Given the description of an element on the screen output the (x, y) to click on. 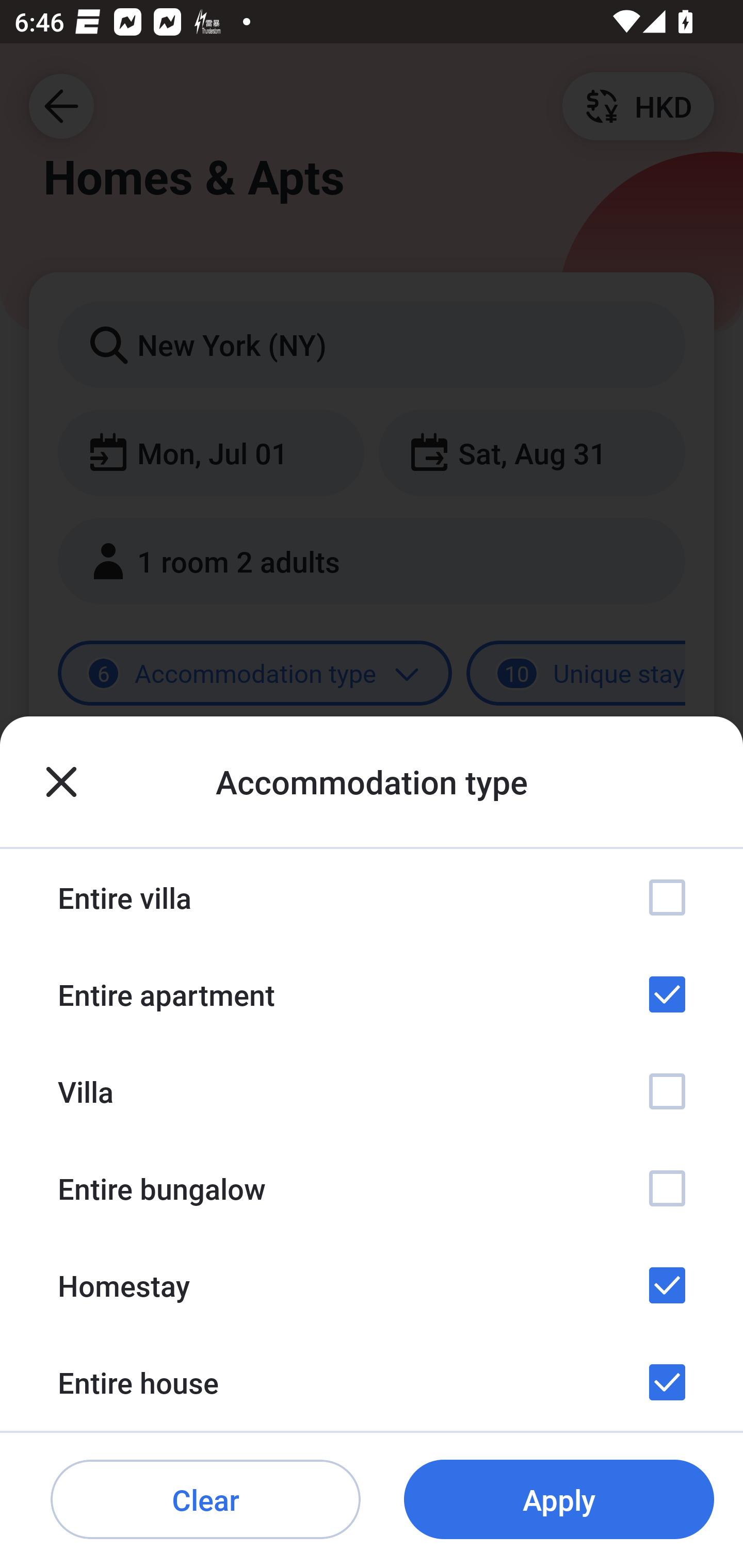
Entire villa (371, 897)
Entire apartment (371, 994)
Villa (371, 1091)
Entire bungalow (371, 1188)
Homestay (371, 1284)
Entire house (371, 1382)
Clear (205, 1499)
Apply (559, 1499)
